Given the description of an element on the screen output the (x, y) to click on. 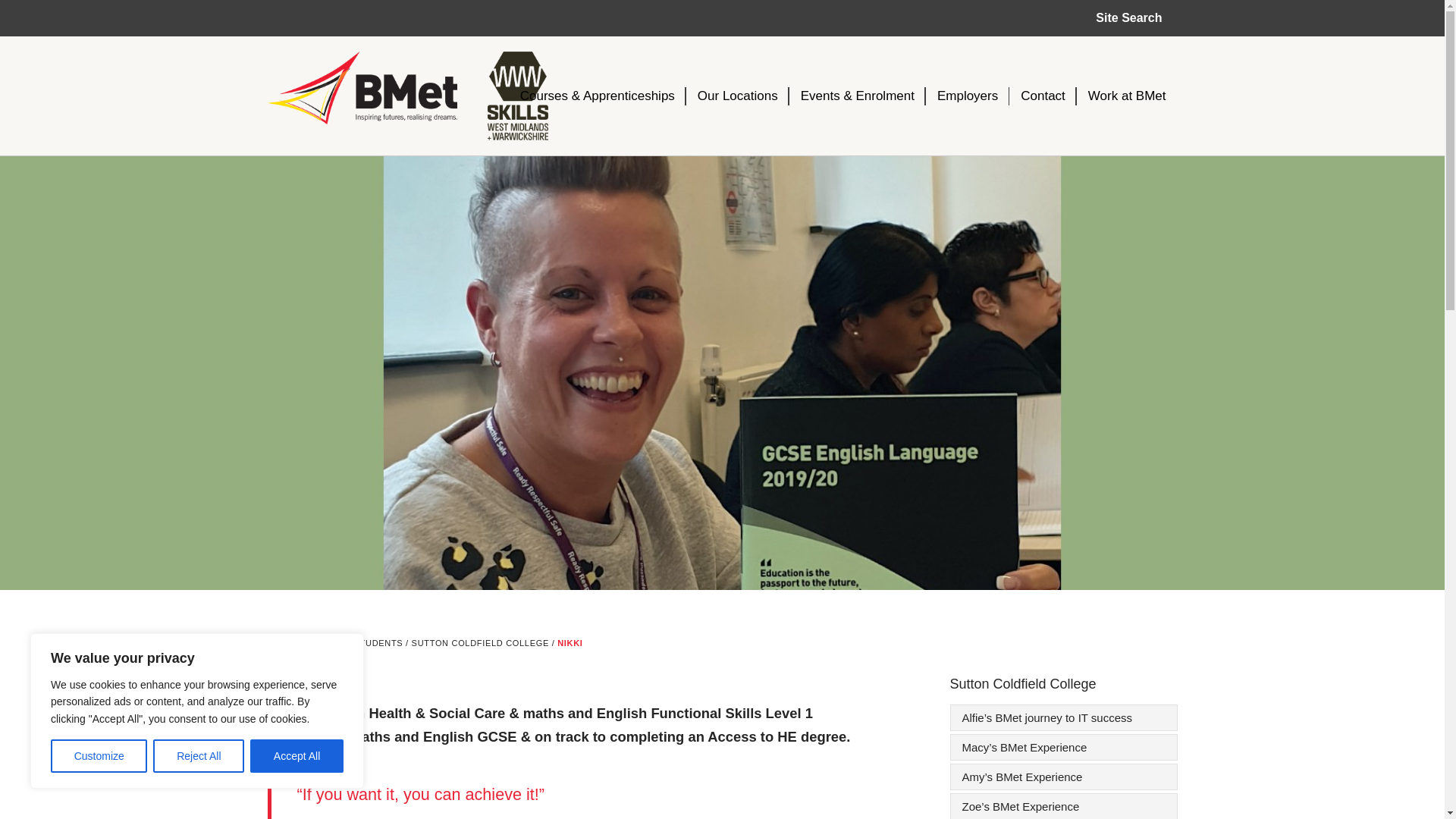
Go to Sutton Coldfield College. (480, 642)
Go to Meet Our Students. (352, 642)
Accept All (296, 756)
Reject All (198, 756)
Go to Nikki. (569, 642)
Customize (98, 756)
Go to BMet. (280, 642)
Site Search (1128, 17)
